Given the description of an element on the screen output the (x, y) to click on. 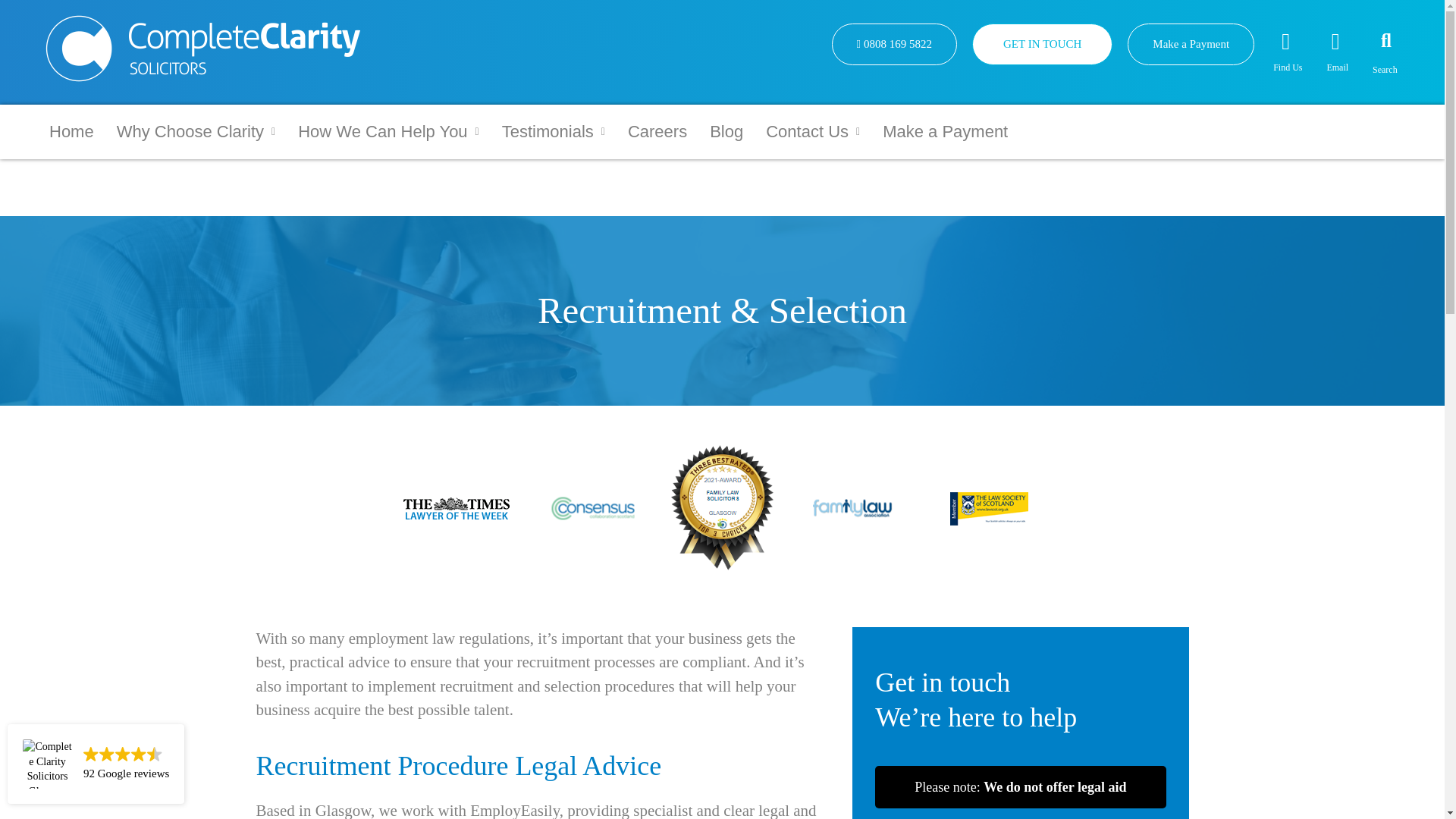
0808 169 5822 (893, 43)
Home (70, 131)
Why Choose Clarity (195, 131)
Search (1377, 39)
How We Can Help You (388, 131)
GET IN TOUCH (1042, 43)
Make a Payment (1189, 43)
